Given the description of an element on the screen output the (x, y) to click on. 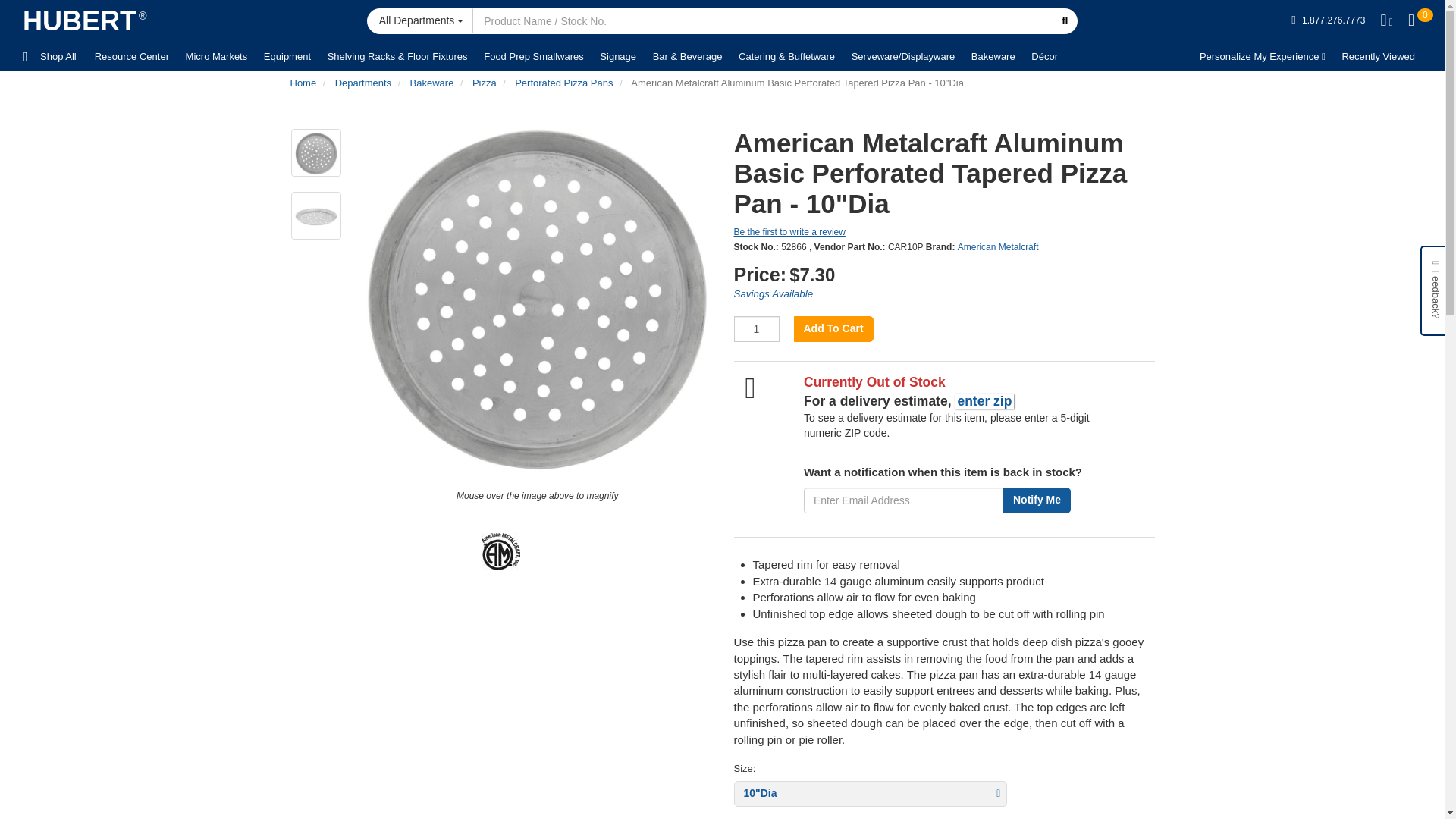
1 (755, 329)
Add To Cart (832, 329)
pizza pan (315, 216)
pizza pan (537, 301)
All Departments (419, 20)
pizza pan (315, 153)
